Given the description of an element on the screen output the (x, y) to click on. 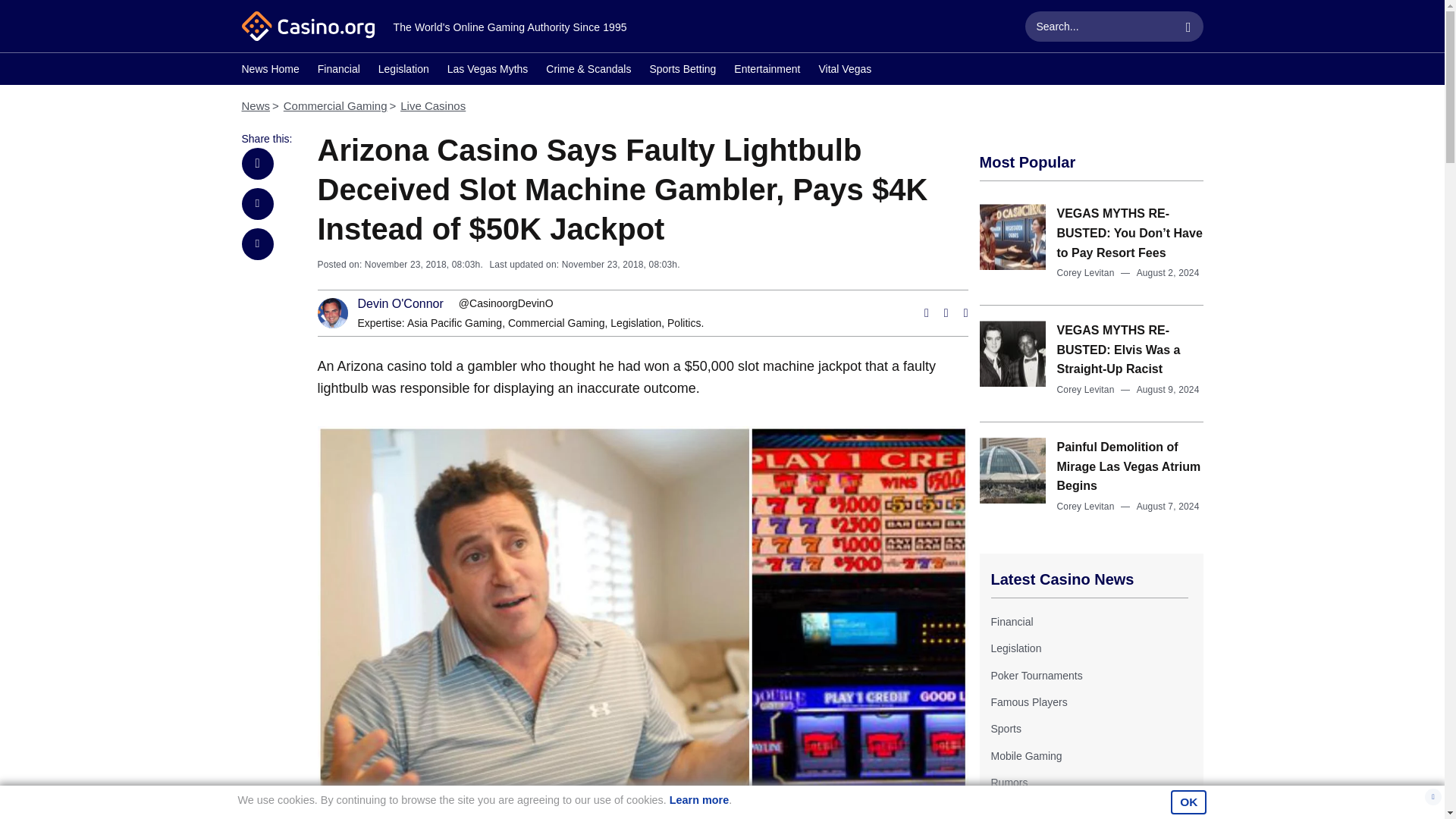
Sports Betting (682, 70)
Legislation (1015, 648)
Financial (338, 70)
Corey Levitan (1086, 389)
Devin O'Connor (401, 304)
Commercial Gaming (335, 105)
Live Casinos (432, 105)
News (255, 105)
iGaming (1009, 809)
Famous Players (1028, 702)
